Given the description of an element on the screen output the (x, y) to click on. 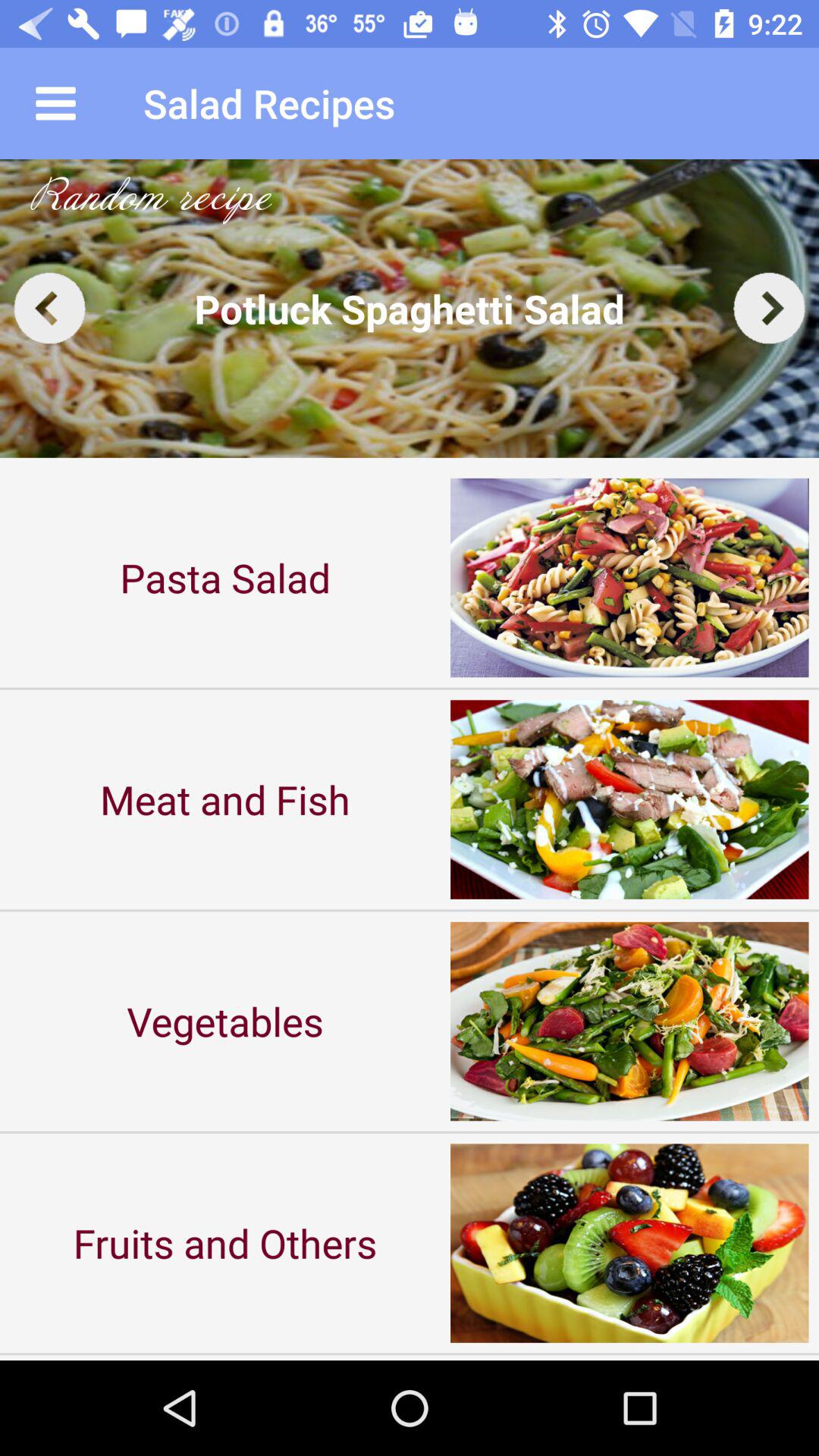
press the icon to the left of the salad recipes app (55, 103)
